Given the description of an element on the screen output the (x, y) to click on. 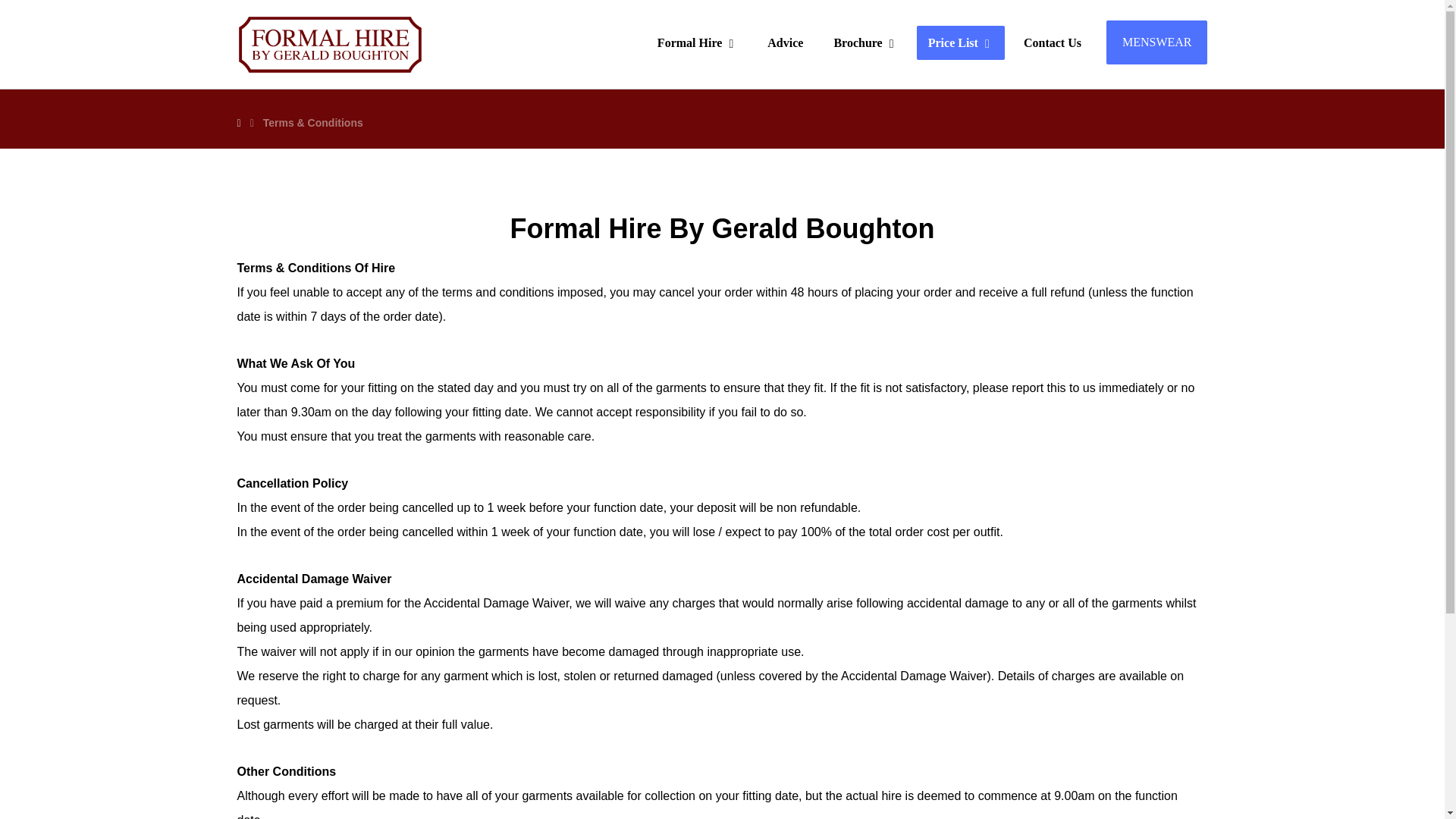
Bury St Edmunds, Suffolk (328, 44)
Formal Hire (697, 42)
Brochure (865, 42)
Advice (784, 42)
Contact Us (1052, 42)
MENSWEAR (1157, 42)
Price List (960, 42)
